Given the description of an element on the screen output the (x, y) to click on. 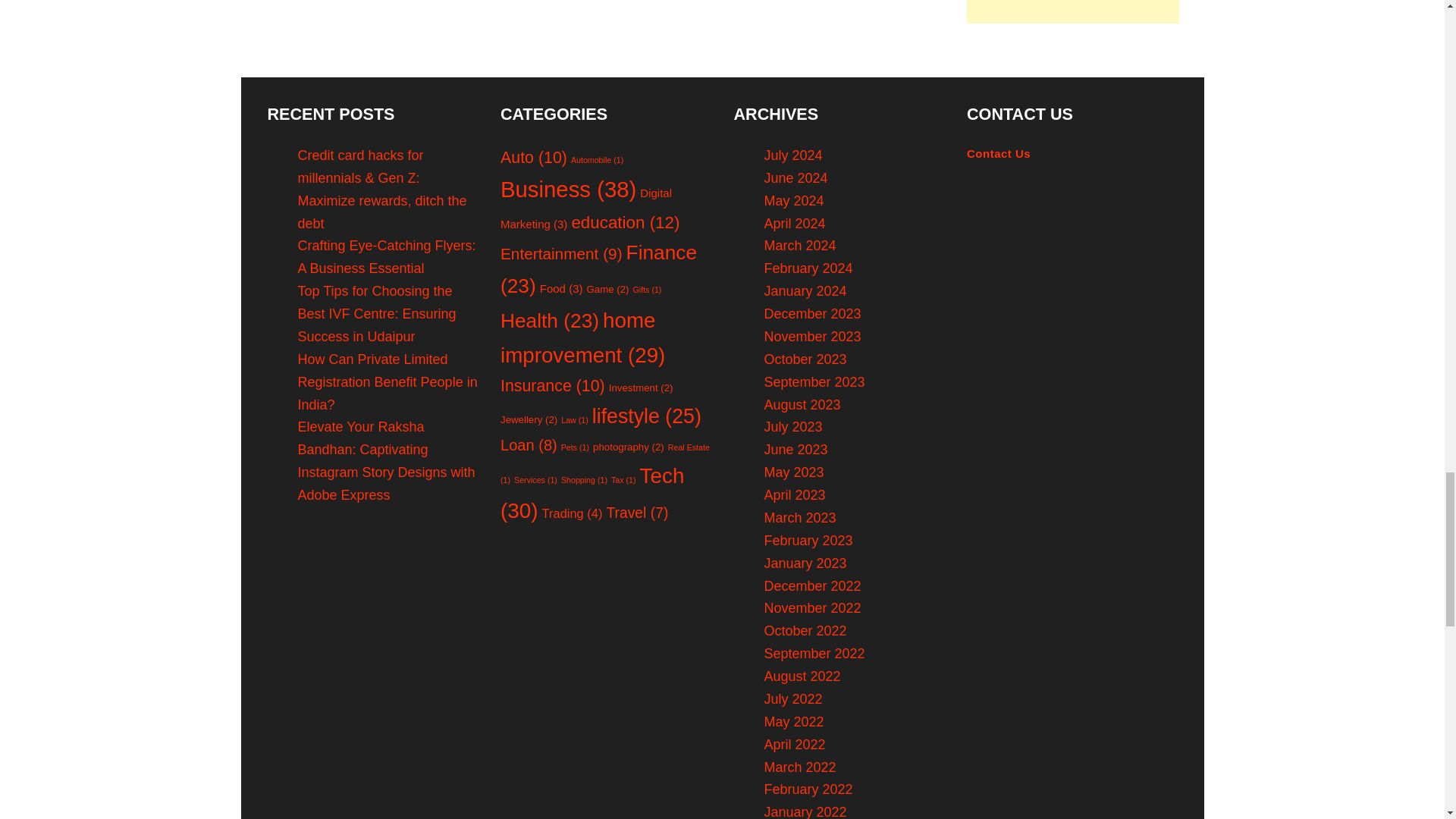
Tips to Choose the Best Resort for Your Vacation (387, 9)
